Given the description of an element on the screen output the (x, y) to click on. 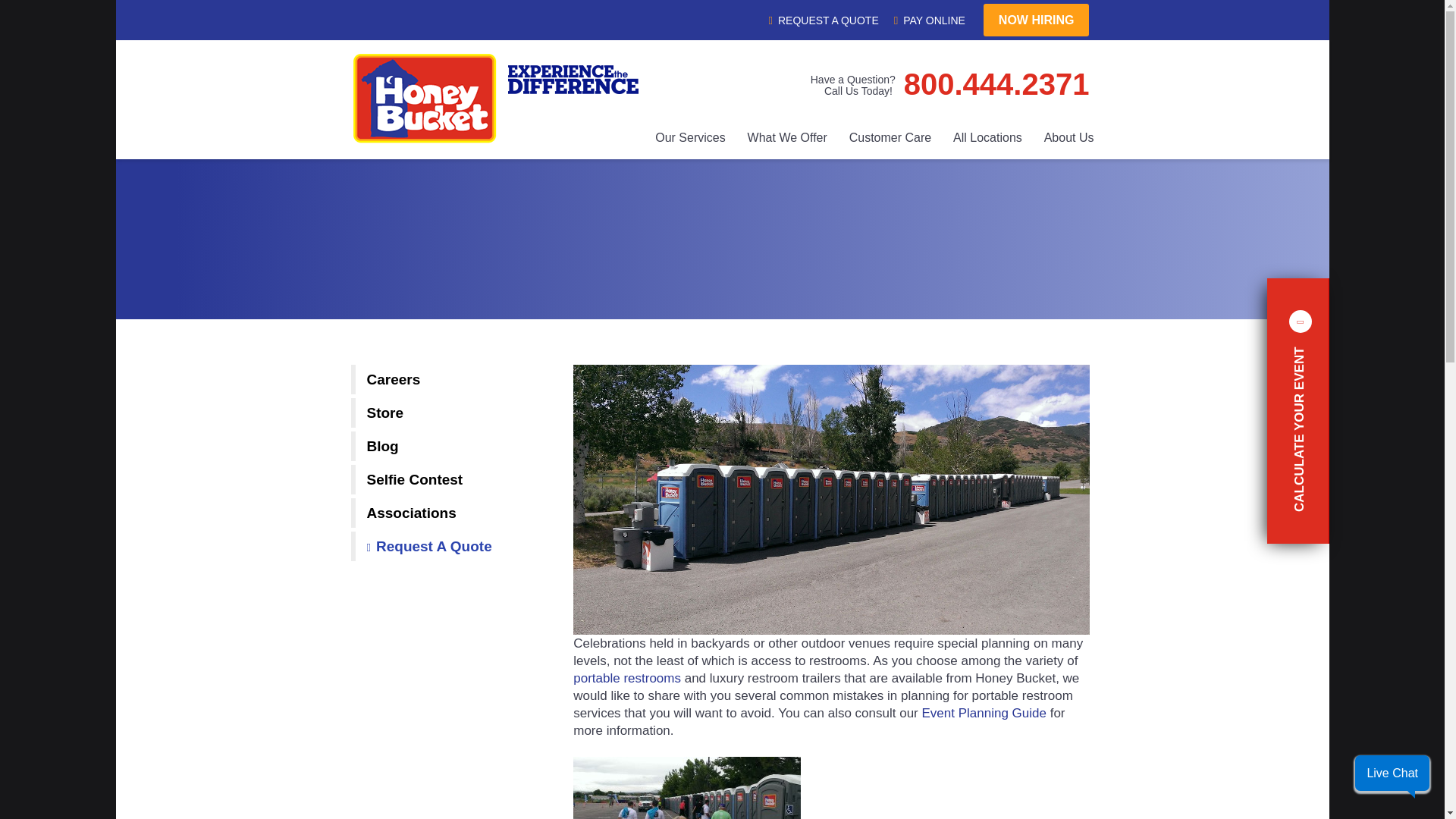
PAY ONLINE (929, 20)
NOW HIRING (1036, 20)
REQUEST A QUOTE (867, 85)
